Given the description of an element on the screen output the (x, y) to click on. 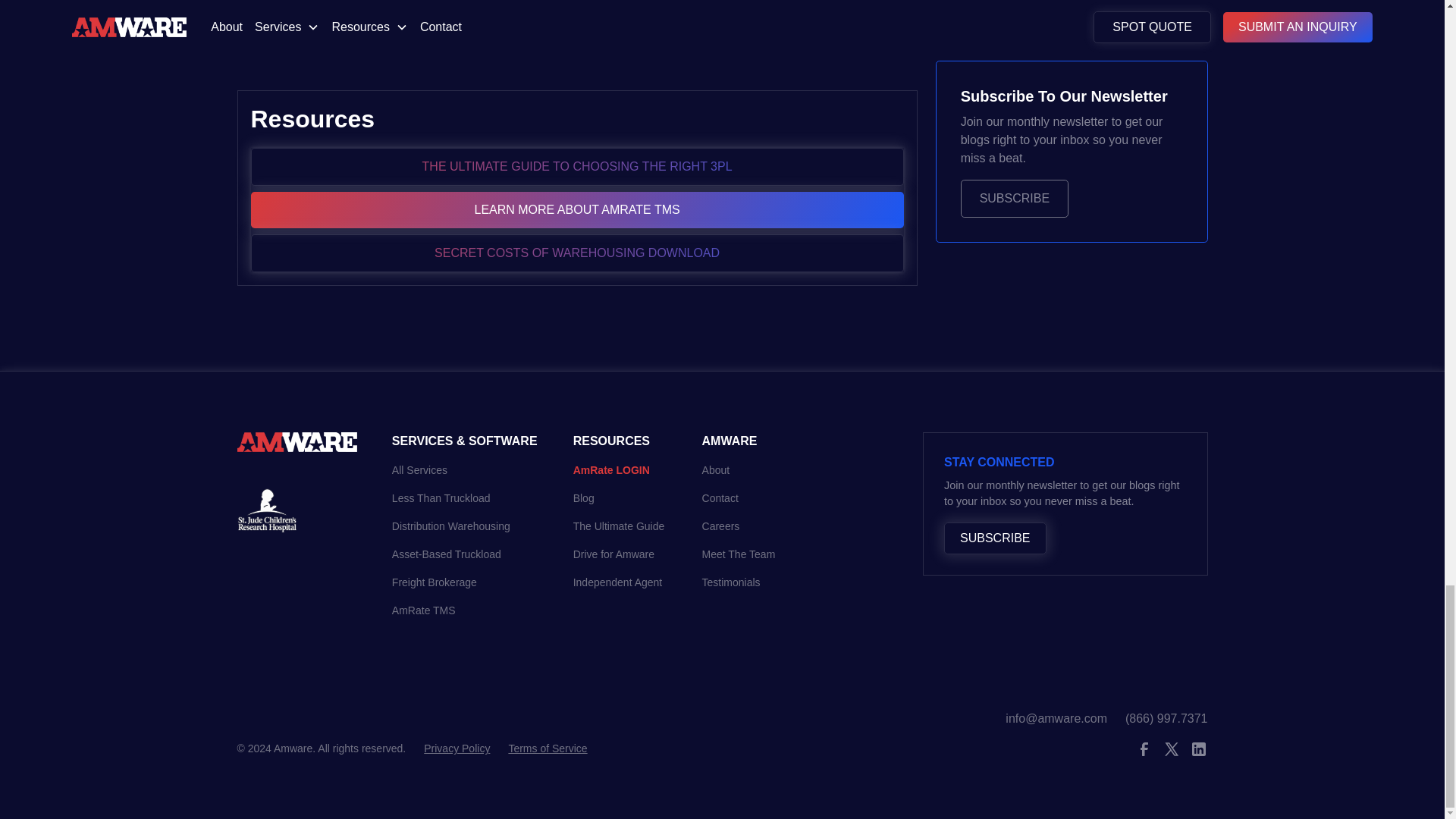
SECRET COSTS OF WAREHOUSING DOWNLOAD (576, 252)
THE ULTIMATE GUIDE TO CHOOSING THE RIGHT 3PL (576, 166)
Less Than Truckload (440, 498)
Distribution Warehousing (451, 526)
LEARN MORE ABOUT AMRATE TMS (576, 209)
All Services (418, 470)
AmRate TMS (423, 610)
The Ultimate Guide (619, 526)
Asset-Based Truckload (445, 554)
Freight Brokerage (434, 582)
AmRate LOGIN (611, 470)
Blog (583, 498)
